Given the description of an element on the screen output the (x, y) to click on. 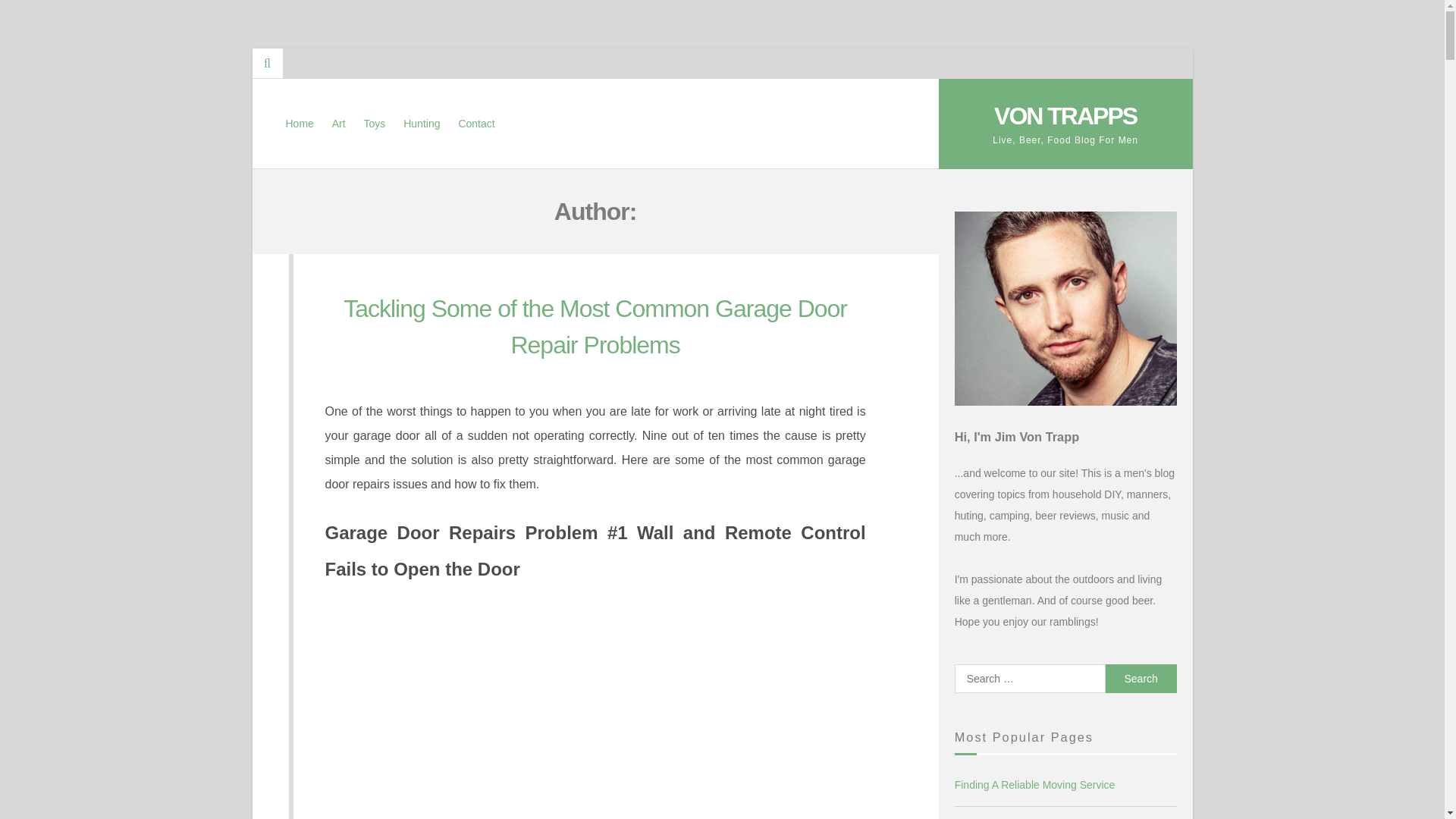
Search (1140, 678)
Hunting (421, 123)
Contact (475, 123)
VON TRAPPS (1065, 114)
Home (299, 123)
Toys (374, 123)
Tackling Some of the Most Common Garage Door Repair Problems (595, 326)
Search (1140, 678)
